Given the description of an element on the screen output the (x, y) to click on. 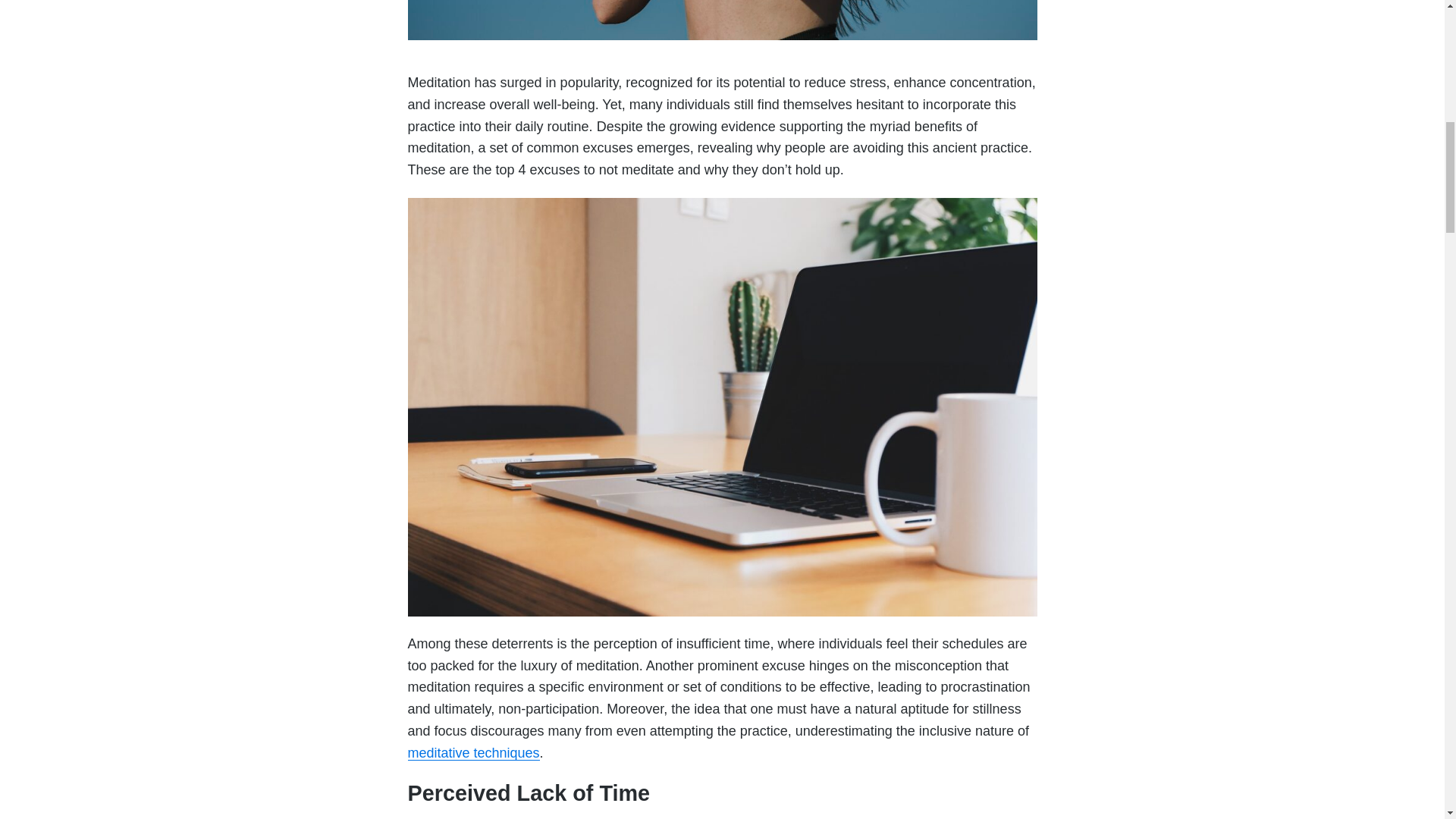
meditative techniques (473, 752)
